Given the description of an element on the screen output the (x, y) to click on. 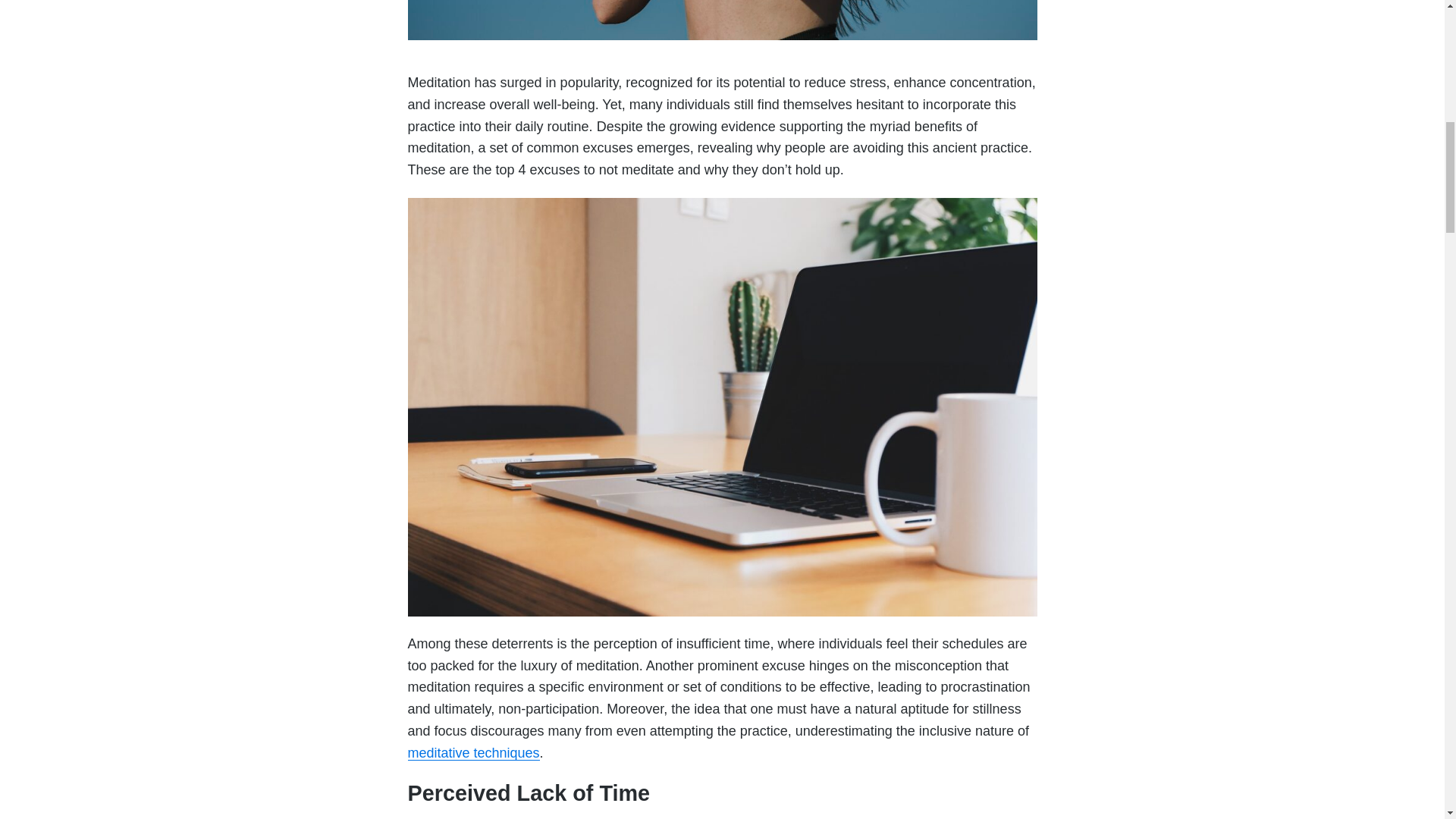
meditative techniques (473, 752)
